Given the description of an element on the screen output the (x, y) to click on. 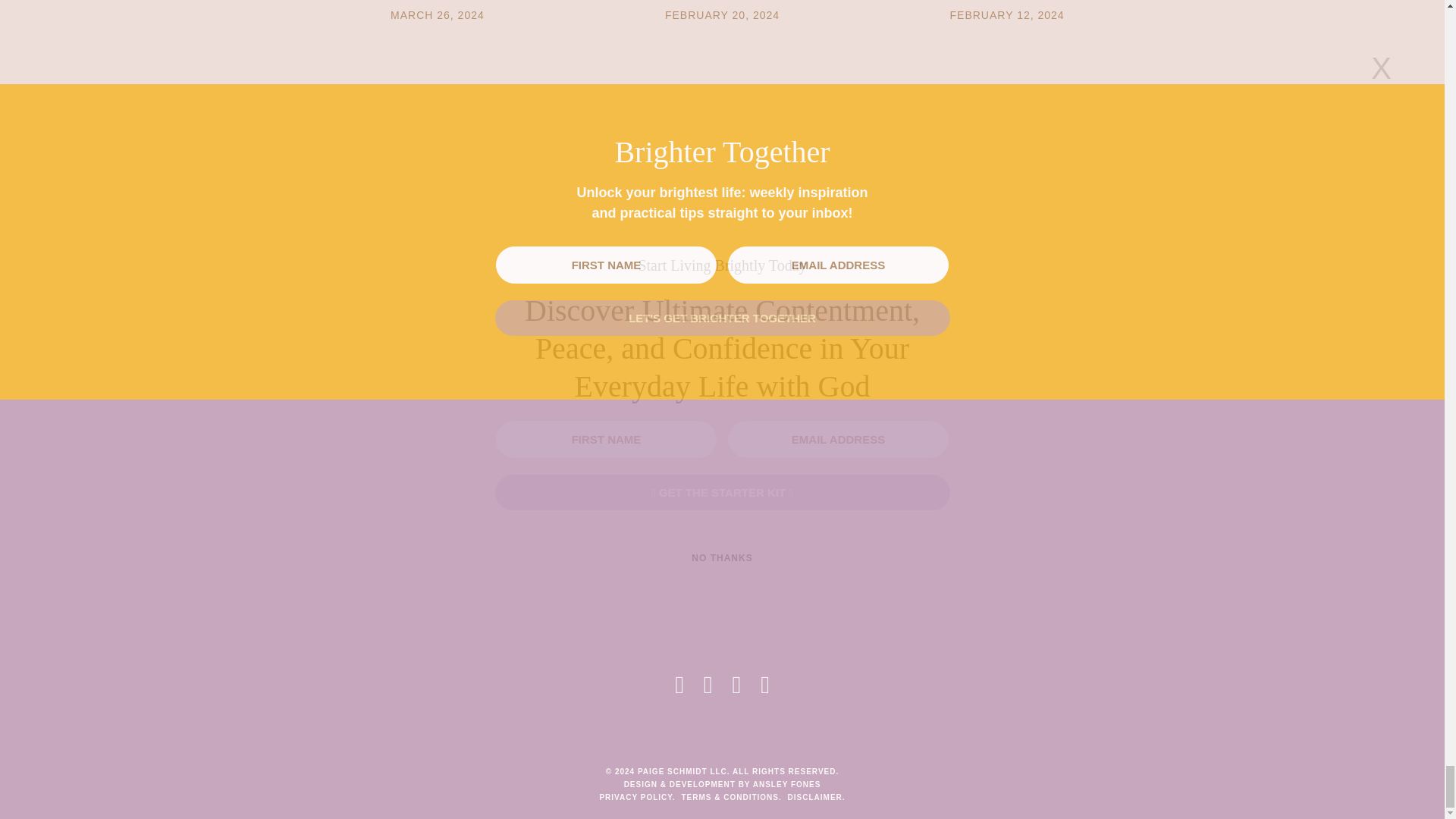
Let's Get Brighter Together (722, 317)
